Given the description of an element on the screen output the (x, y) to click on. 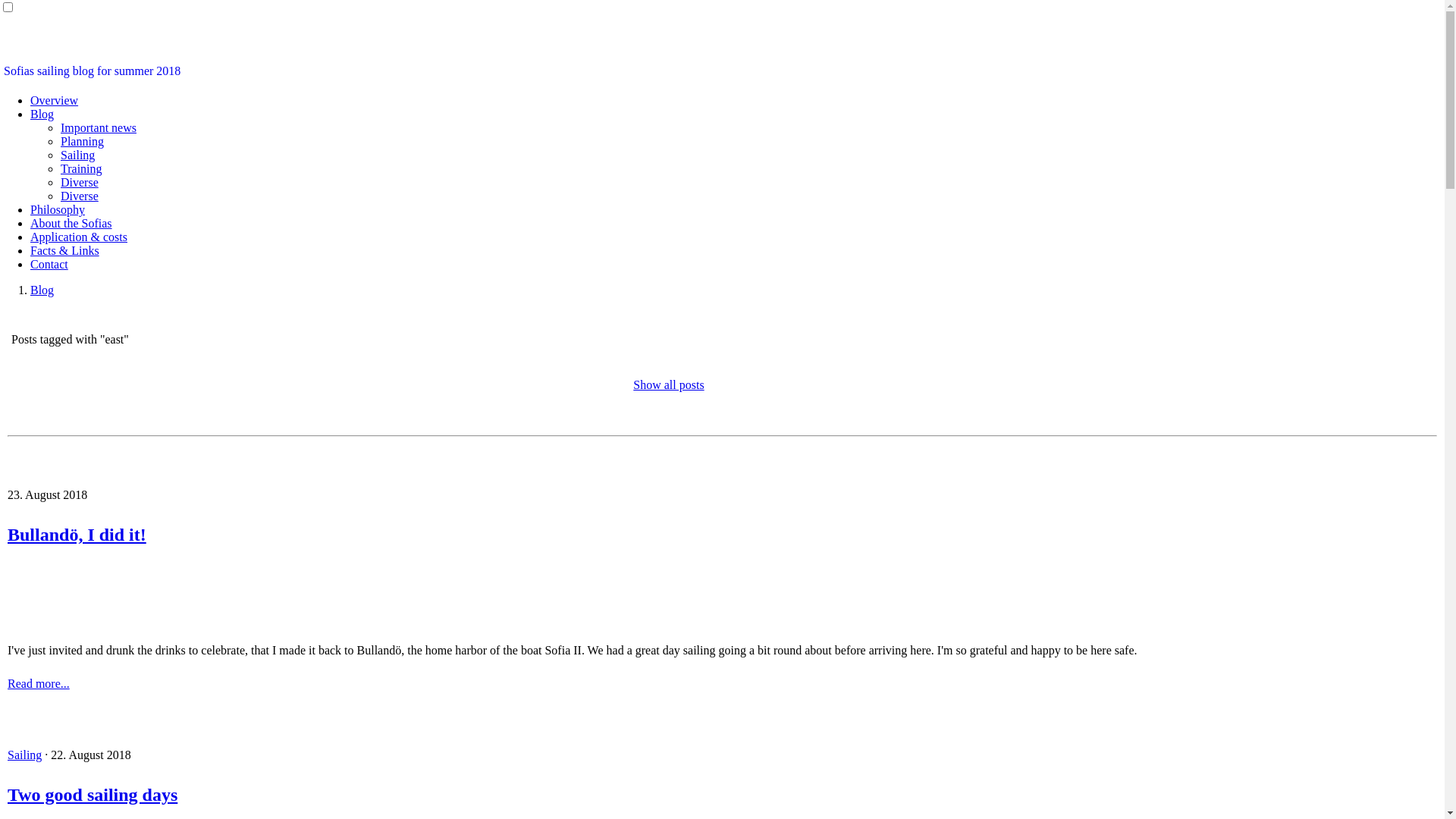
Training Element type: text (81, 168)
Overview Element type: text (54, 100)
About the Sofias Element type: text (71, 222)
Sailing Element type: text (77, 154)
Sailing Element type: text (24, 754)
Blog Element type: text (41, 113)
Diverse Element type: text (79, 181)
Important news Element type: text (98, 127)
Show all posts Element type: text (668, 384)
Two good sailing days Element type: text (722, 794)
Philosophy Element type: text (57, 209)
Application & costs Element type: text (78, 236)
Read more... Element type: text (38, 683)
Contact Element type: text (49, 263)
Blog Element type: text (41, 289)
Planning Element type: text (81, 140)
Sofias sailing blog for summer 2018 Element type: text (91, 70)
Diverse Element type: text (79, 195)
Facts & Links Element type: text (64, 250)
